Given the description of an element on the screen output the (x, y) to click on. 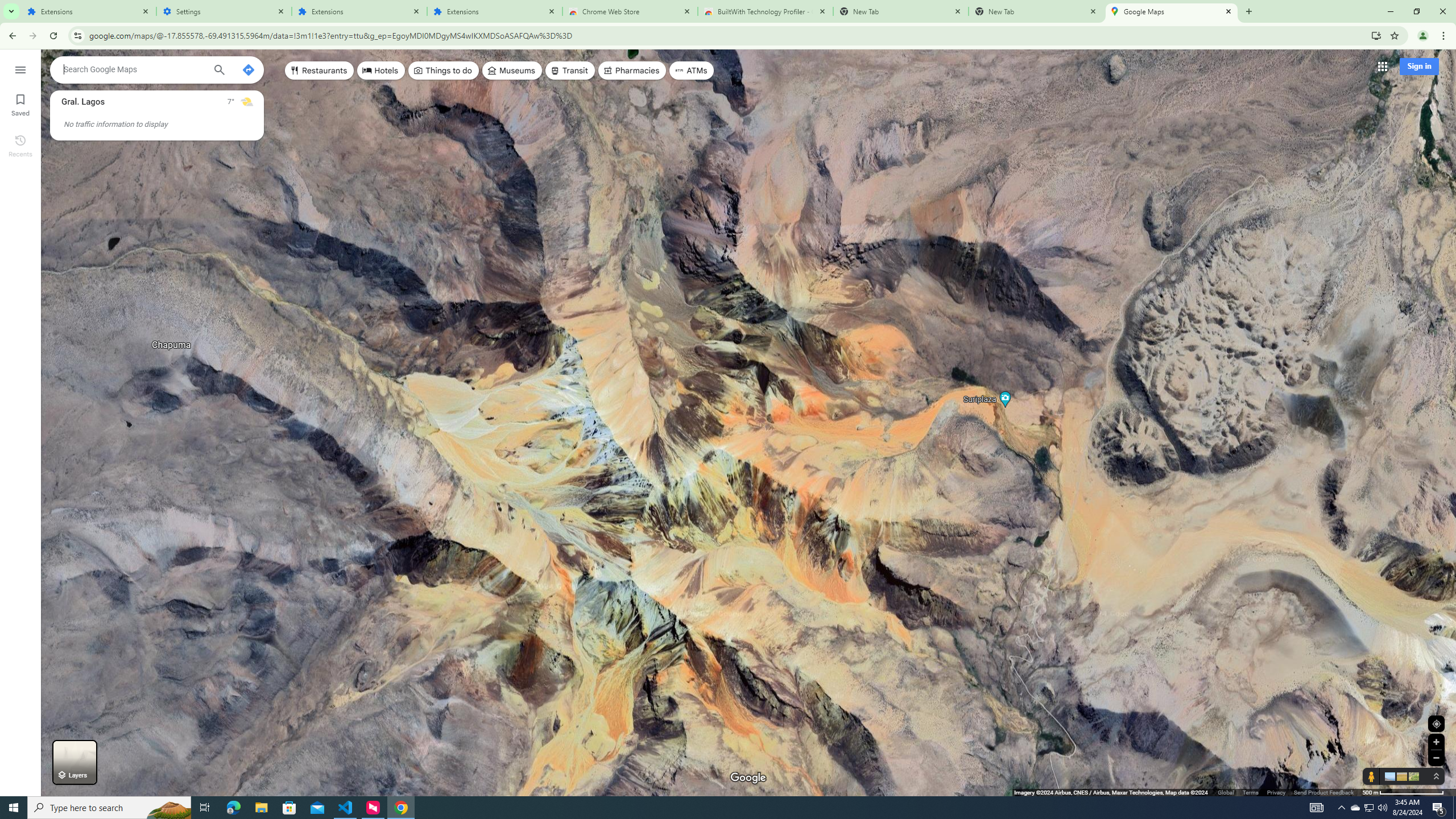
Museums (511, 70)
Chrome Web Store (630, 11)
Install Google Maps (1376, 35)
Layers (74, 762)
New Tab (1036, 11)
